Given the description of an element on the screen output the (x, y) to click on. 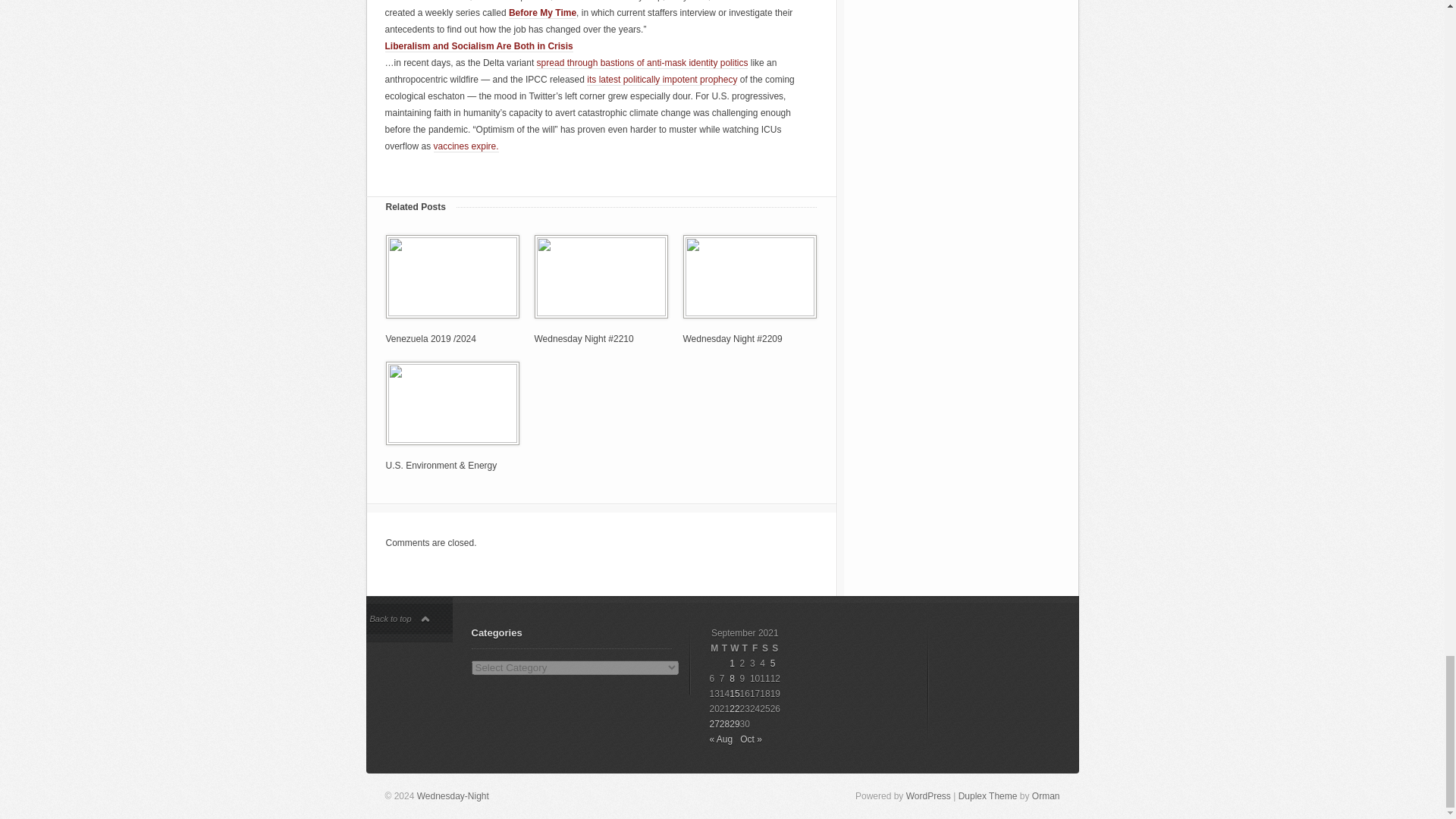
Thursday (744, 648)
Sunday (775, 648)
Wednesday (734, 648)
Friday (754, 648)
Saturday (765, 648)
Tuesday (724, 648)
Monday (714, 648)
